Given the description of an element on the screen output the (x, y) to click on. 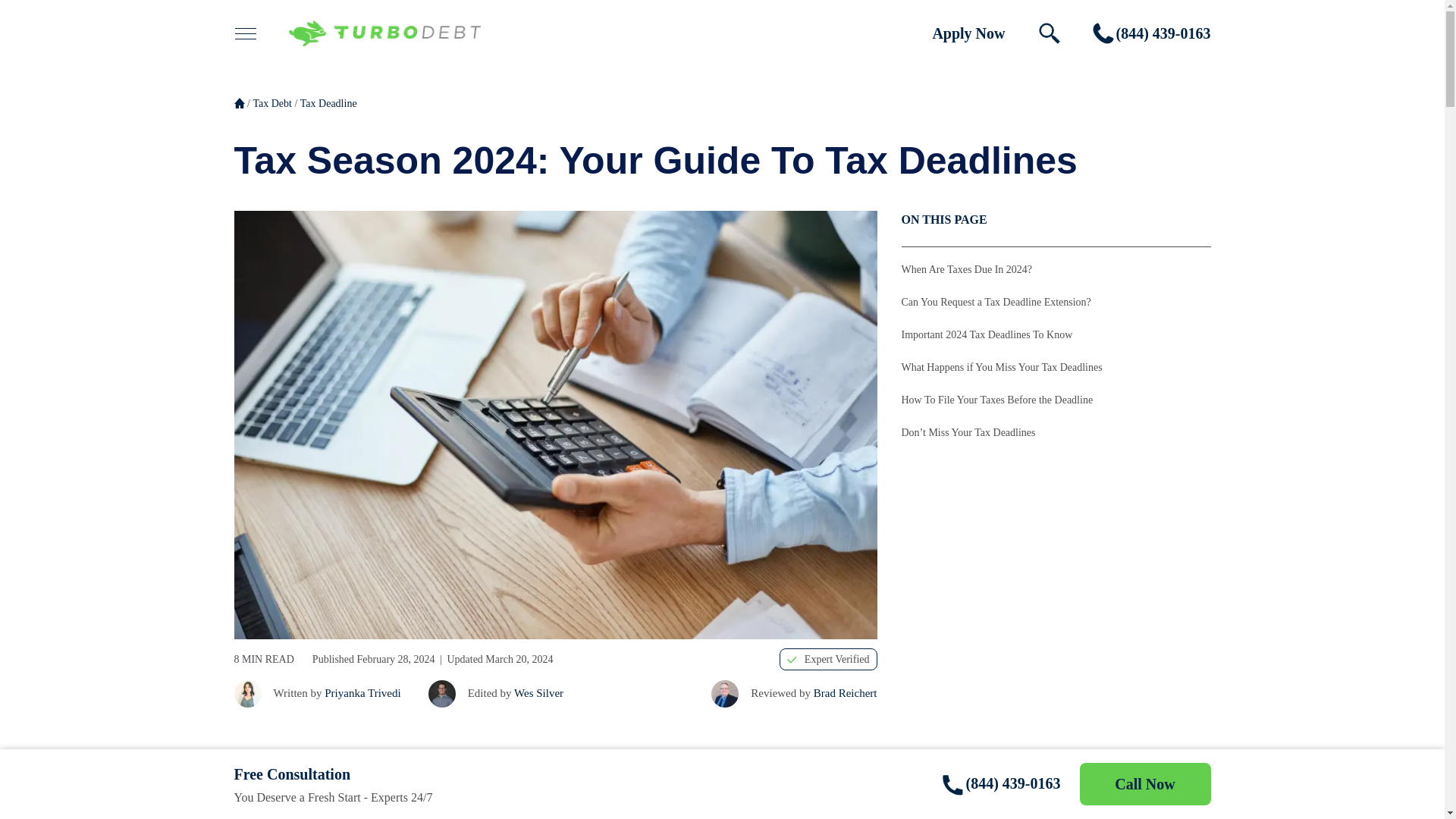
Priyanka Trivedi (362, 693)
Wes Silver (538, 693)
Call Now (1145, 783)
Verified (791, 659)
Wes Silver (441, 693)
Home (238, 102)
Brad Reichert (845, 693)
Priyanka Trivedi (246, 693)
Tax Debt (271, 105)
Apply Now (967, 32)
TurboDebt Logo (384, 32)
